Given the description of an element on the screen output the (x, y) to click on. 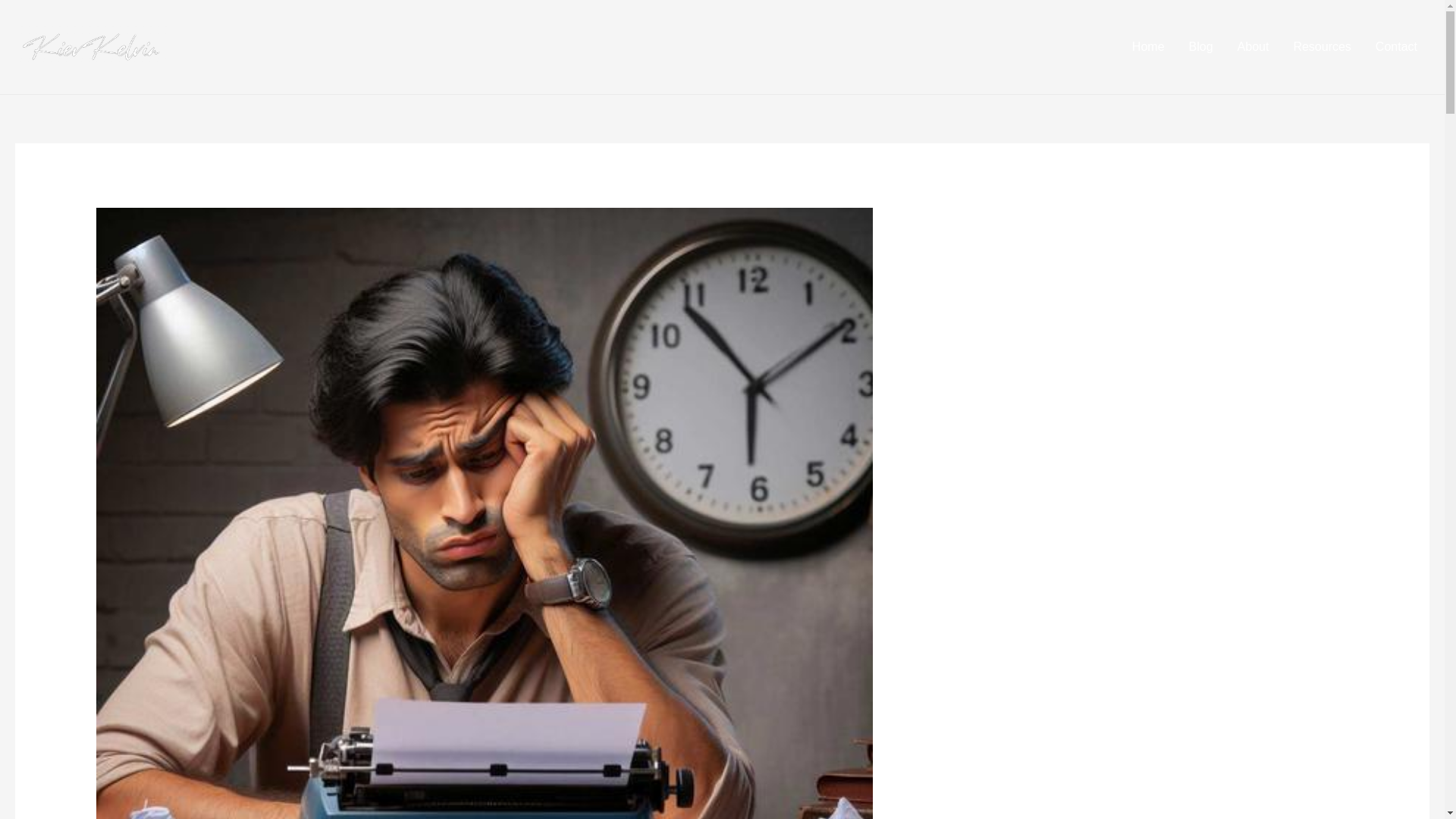
Resources (1321, 46)
Contact (1395, 46)
About (1253, 46)
Home (1147, 46)
Blog (1200, 46)
